Given the description of an element on the screen output the (x, y) to click on. 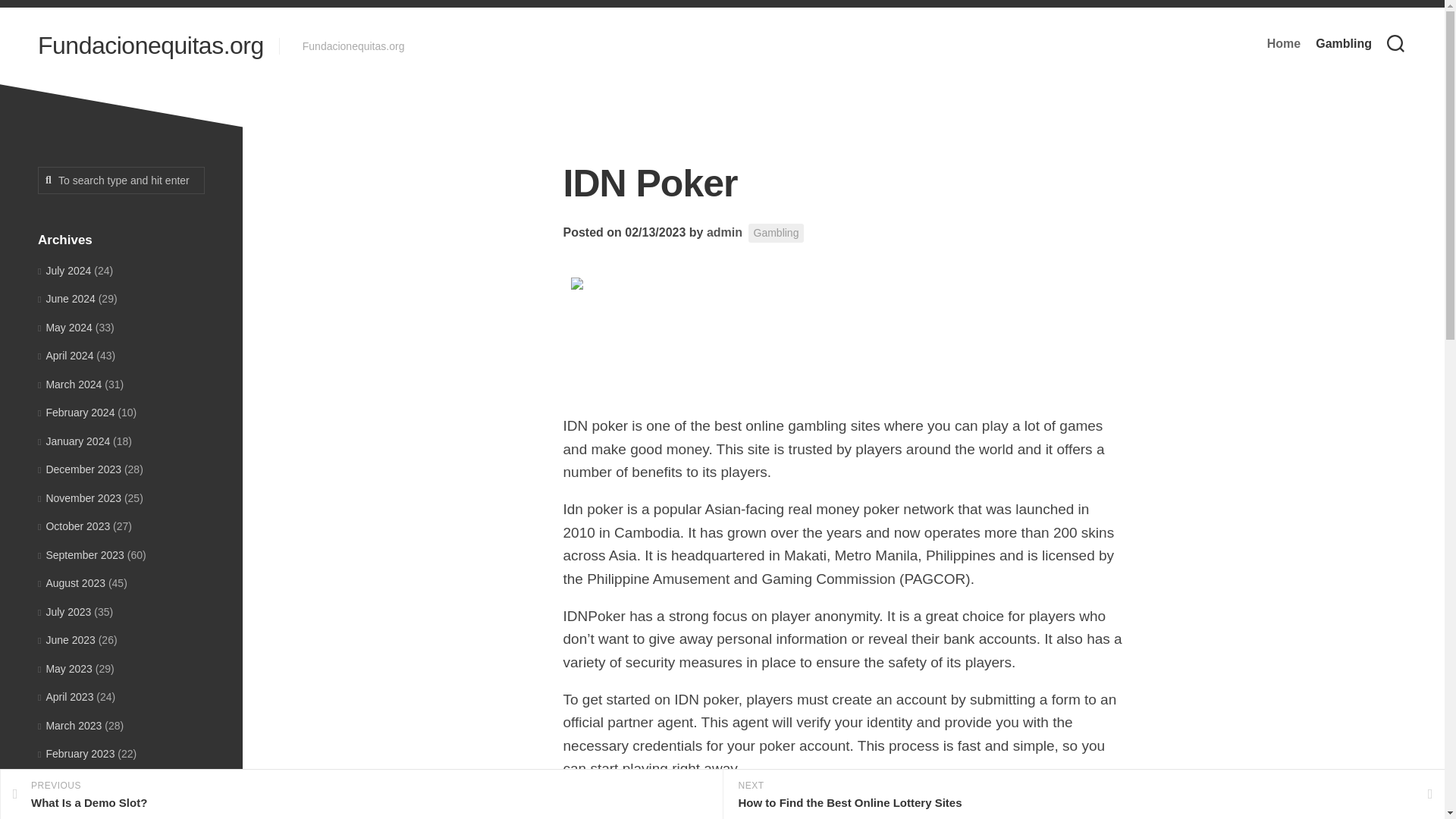
June 2023 (66, 639)
May 2024 (65, 327)
To search type and hit enter (121, 180)
August 2023 (70, 582)
March 2024 (69, 383)
Gambling (1343, 43)
January 2024 (73, 440)
To search type and hit enter (121, 180)
June 2024 (66, 298)
Gambling (776, 232)
November 2023 (78, 497)
January 2023 (73, 782)
Home (1283, 43)
February 2024 (76, 412)
December 2023 (78, 469)
